Given the description of an element on the screen output the (x, y) to click on. 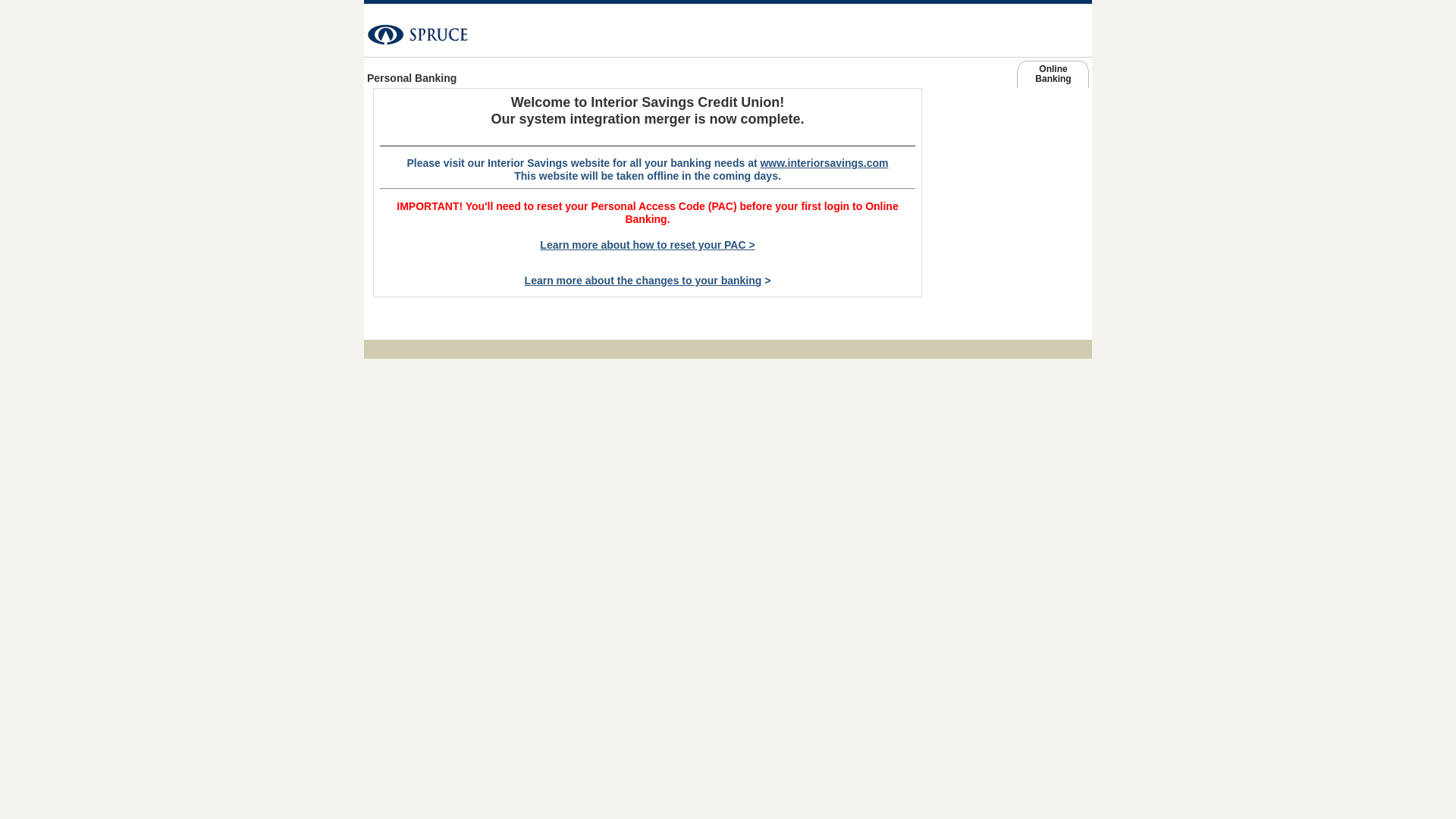
www.interiorsavings.com Element type: text (1002, 138)
Online Banking Element type: text (1052, 76)
Learn more about the changes to your banking Element type: text (643, 280)
Learn more about how to reset your PAC > Element type: text (646, 244)
Home Element type: hover (477, 28)
www.interiorsavings.com Element type: text (823, 162)
